Given the description of an element on the screen output the (x, y) to click on. 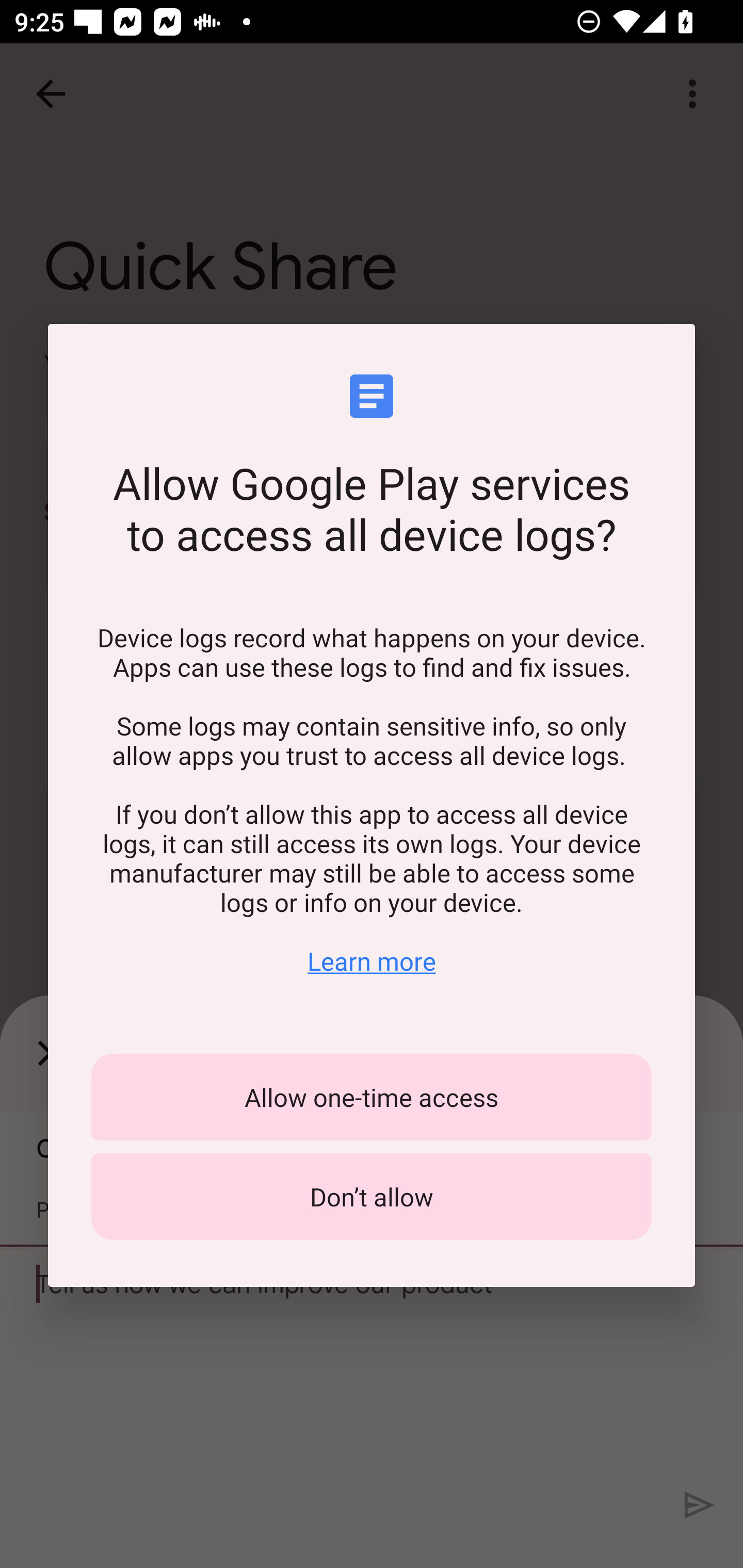
Allow one-time access (371, 1096)
Don’t allow (371, 1197)
